Given the description of an element on the screen output the (x, y) to click on. 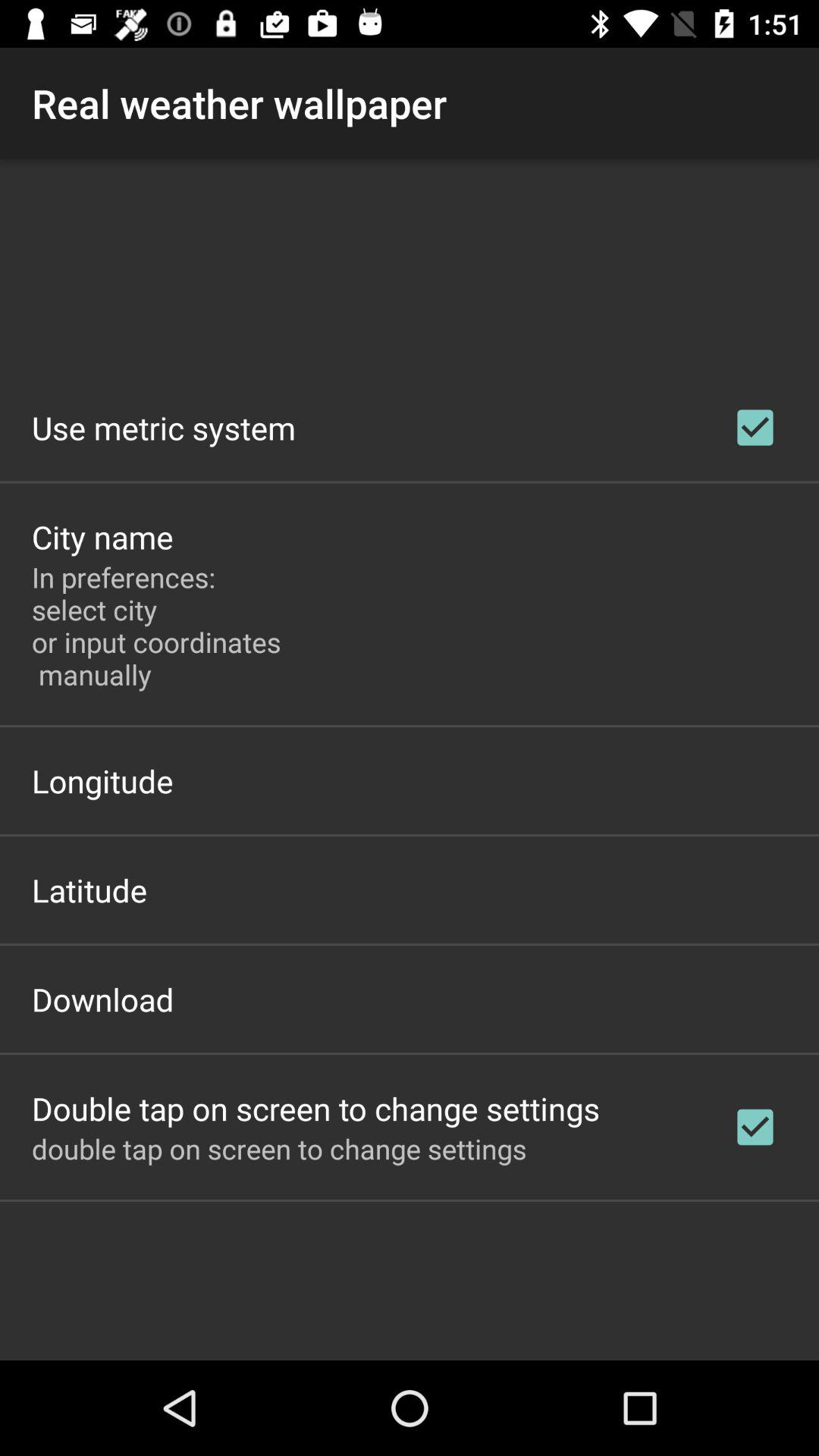
flip until the city name icon (102, 536)
